Given the description of an element on the screen output the (x, y) to click on. 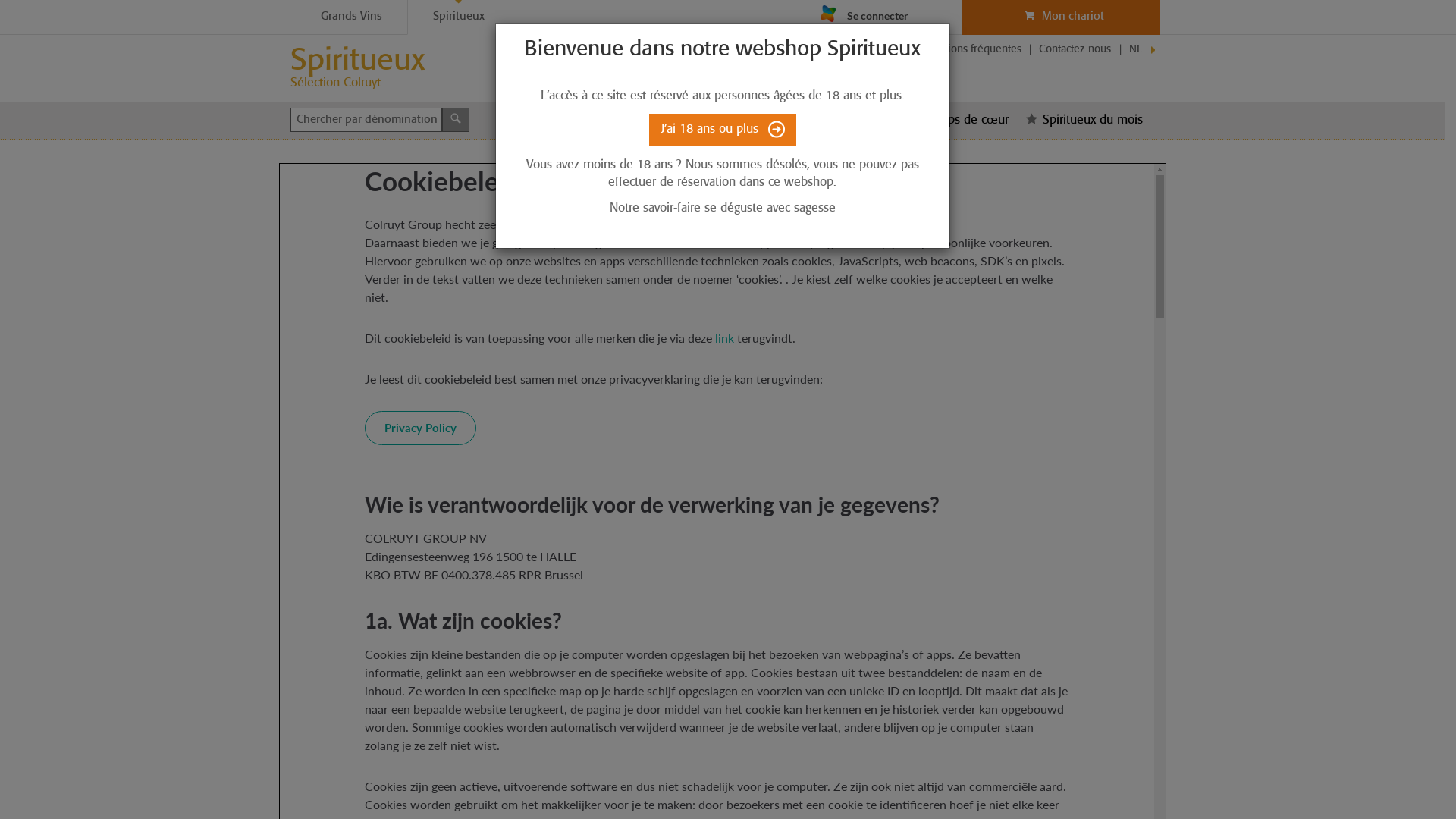
Spiritueux Element type: text (356, 62)
J'ai 18 ans ou plus Element type: text (722, 129)
Actions Element type: text (867, 120)
Contactez-nous Element type: text (1074, 49)
Mon chariot Element type: text (1061, 17)
Grands Vins Element type: text (351, 17)
NL Element type: text (1135, 49)
Spiritueux Element type: text (458, 17)
Spiritueux du mois Element type: text (1087, 120)
Chercher Element type: text (454, 119)
Nos spiritueux Element type: text (776, 120)
